Given the description of an element on the screen output the (x, y) to click on. 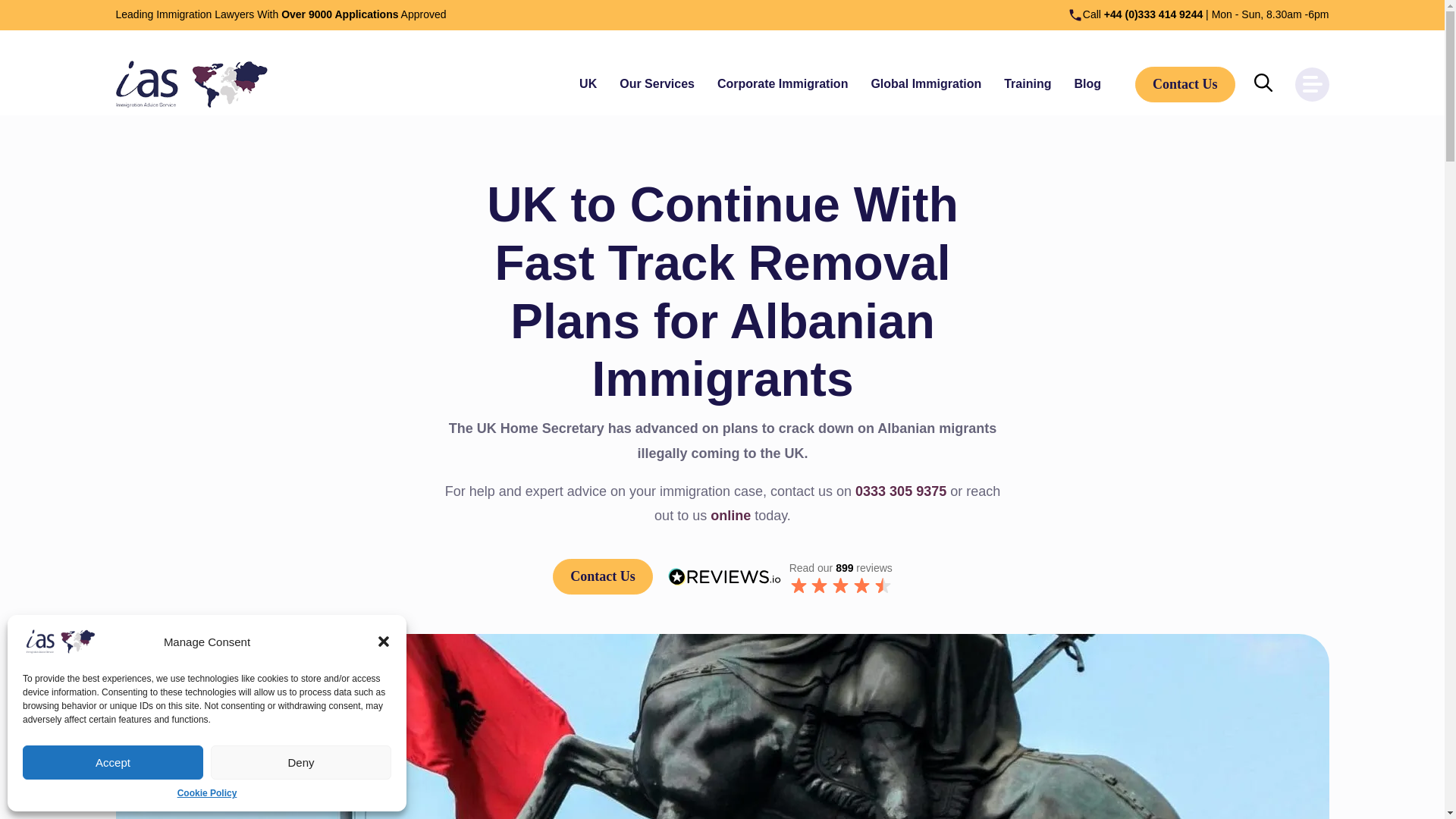
Accept (113, 762)
Cookie Policy (207, 793)
Deny (301, 762)
Immigration Advice Service (190, 83)
